Given the description of an element on the screen output the (x, y) to click on. 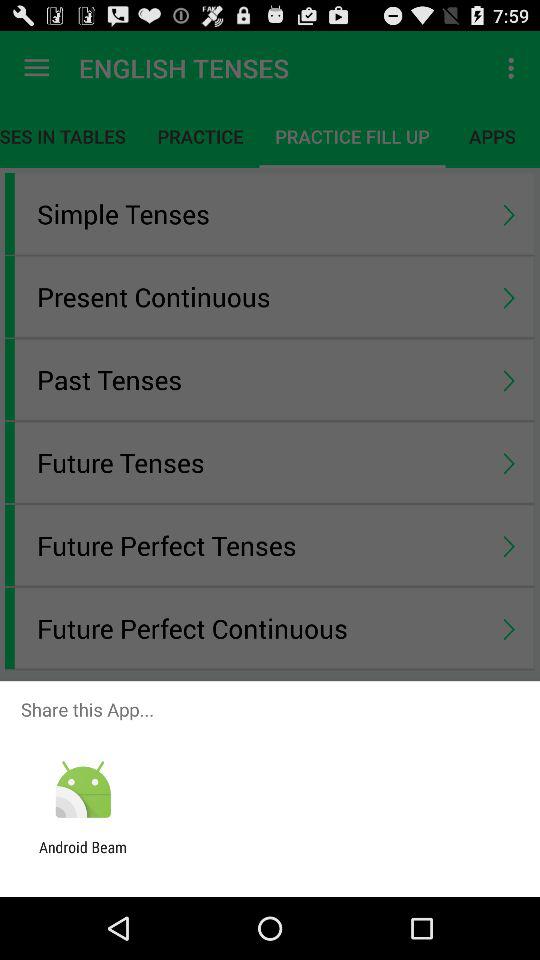
press android beam (83, 856)
